Given the description of an element on the screen output the (x, y) to click on. 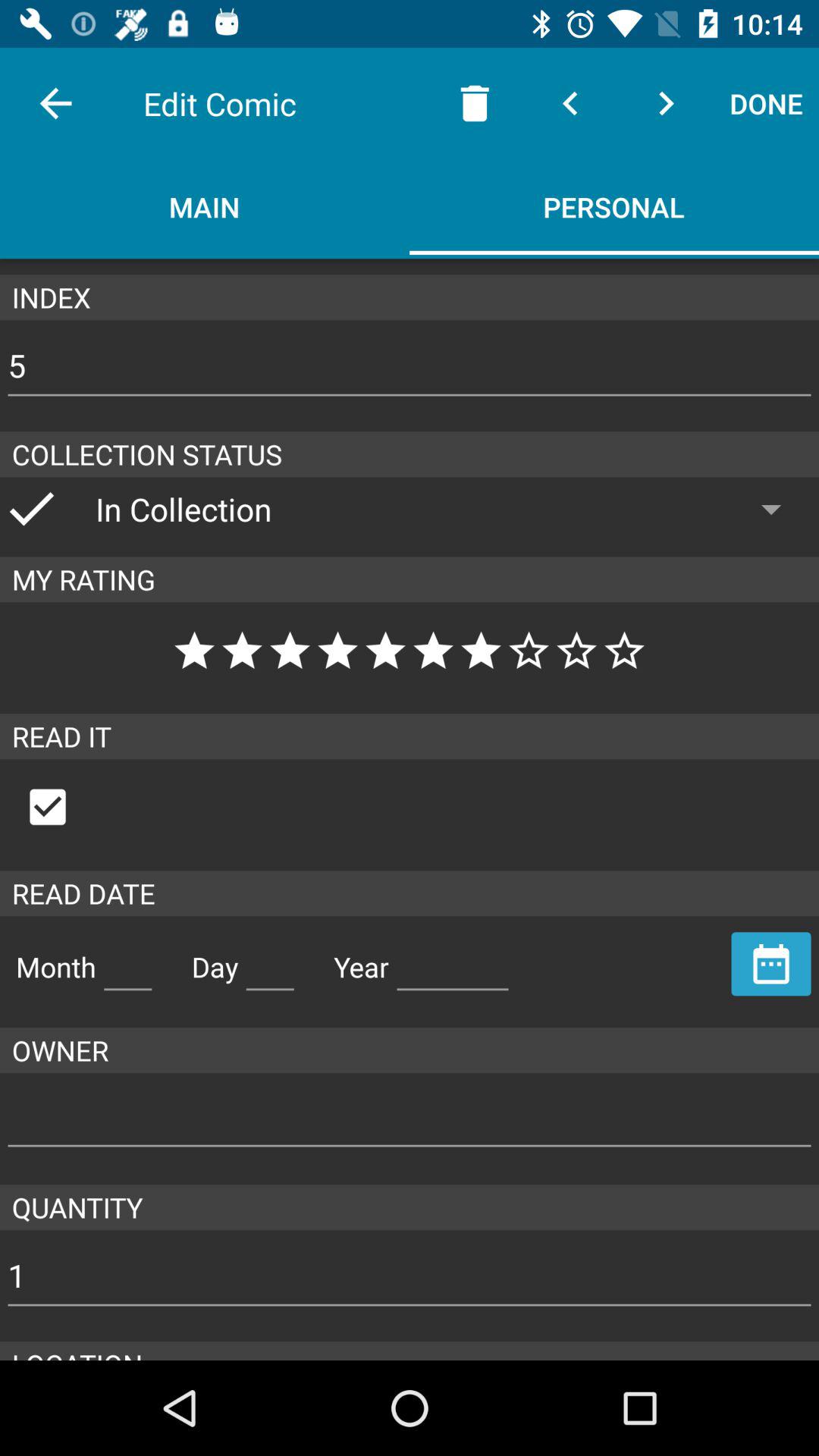
calendar (771, 963)
